Given the description of an element on the screen output the (x, y) to click on. 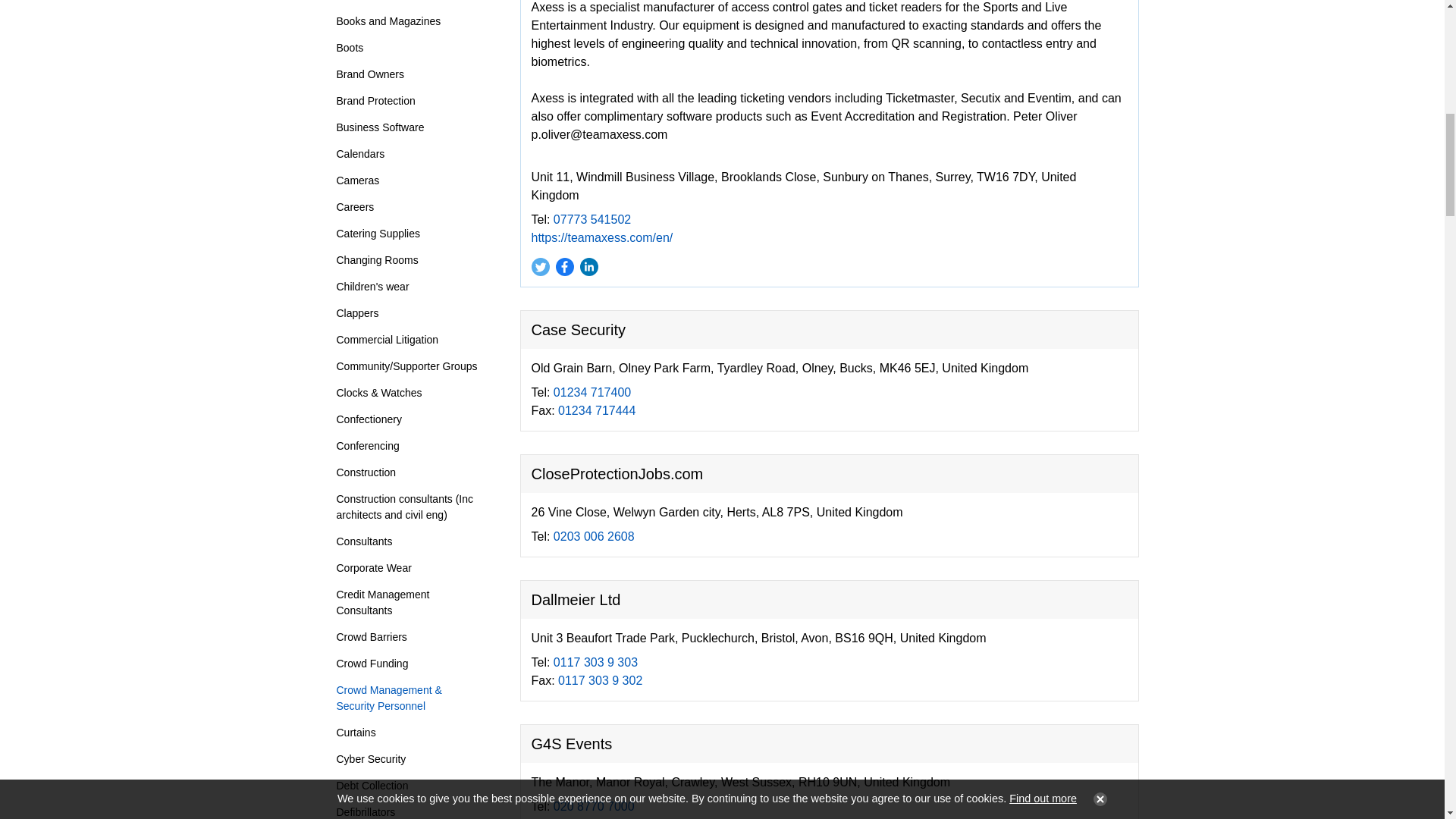
Twitter (539, 266)
Facebook (563, 266)
LinkedIn (587, 266)
